Given the description of an element on the screen output the (x, y) to click on. 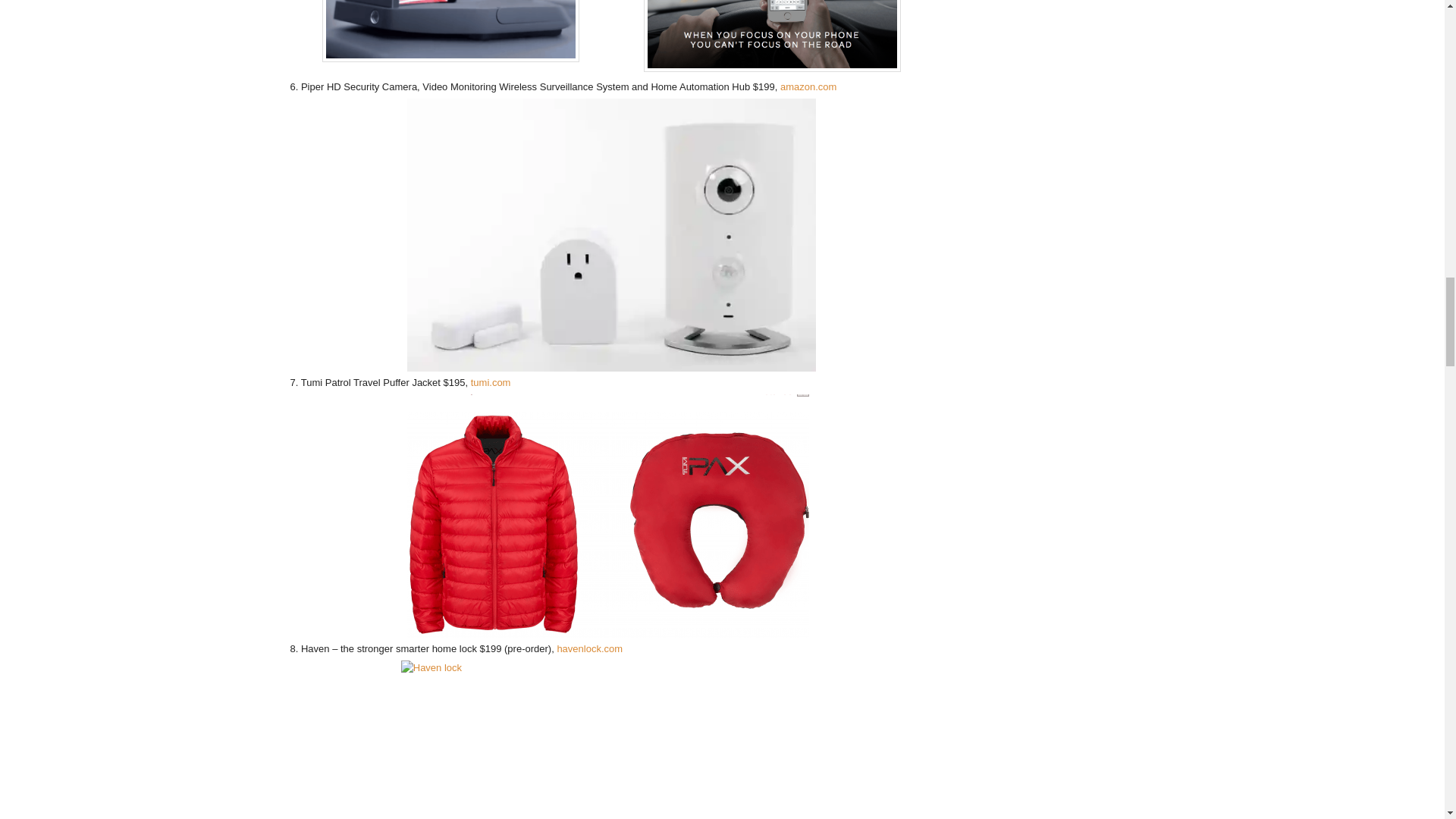
havenlock.com (589, 648)
amazon.com (807, 86)
tumi.com (490, 382)
